Given the description of an element on the screen output the (x, y) to click on. 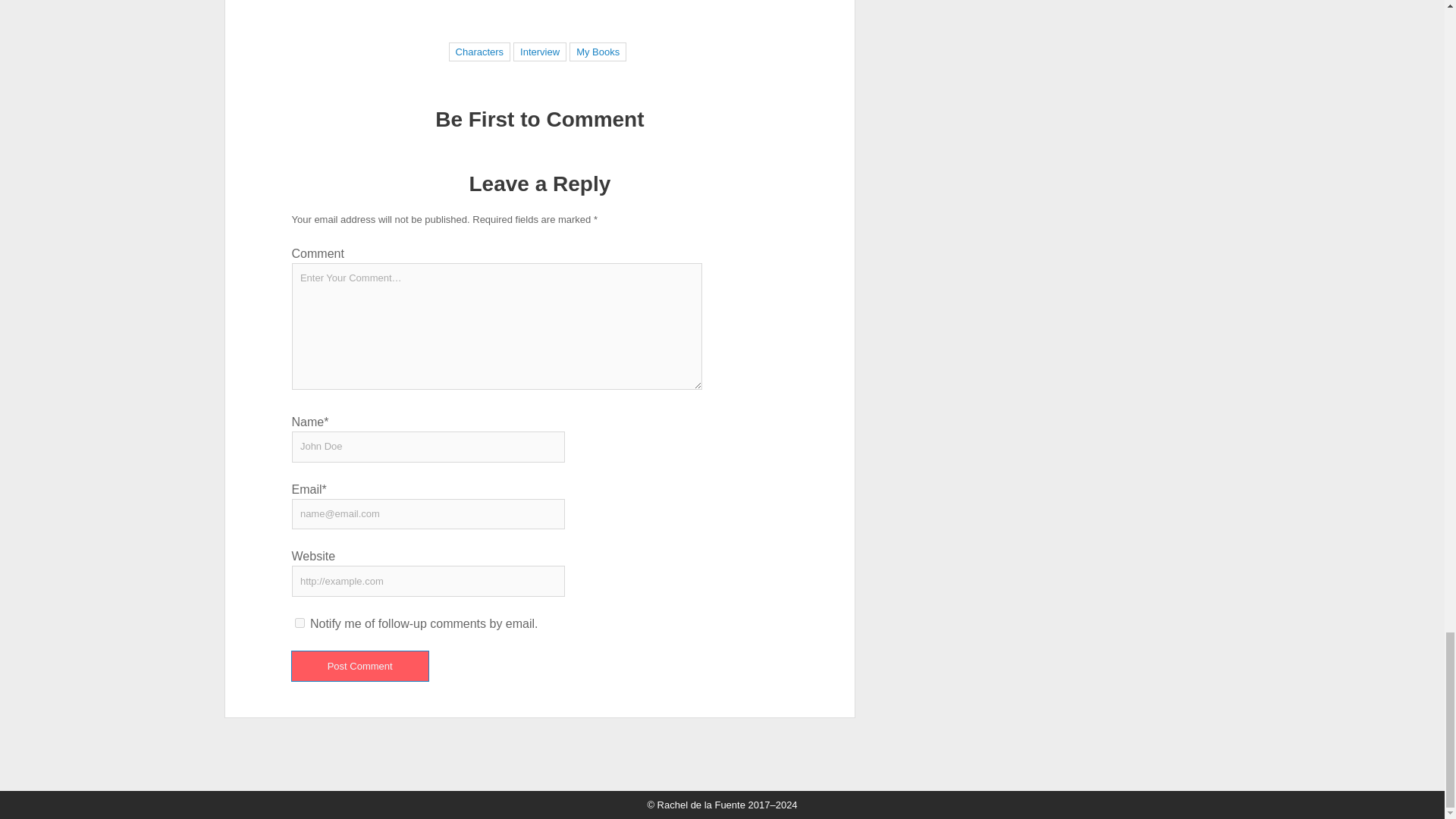
My Books (598, 51)
Interview (539, 51)
Characters (480, 51)
Post Comment (360, 665)
subscribe (299, 623)
Post Comment (360, 665)
